Given the description of an element on the screen output the (x, y) to click on. 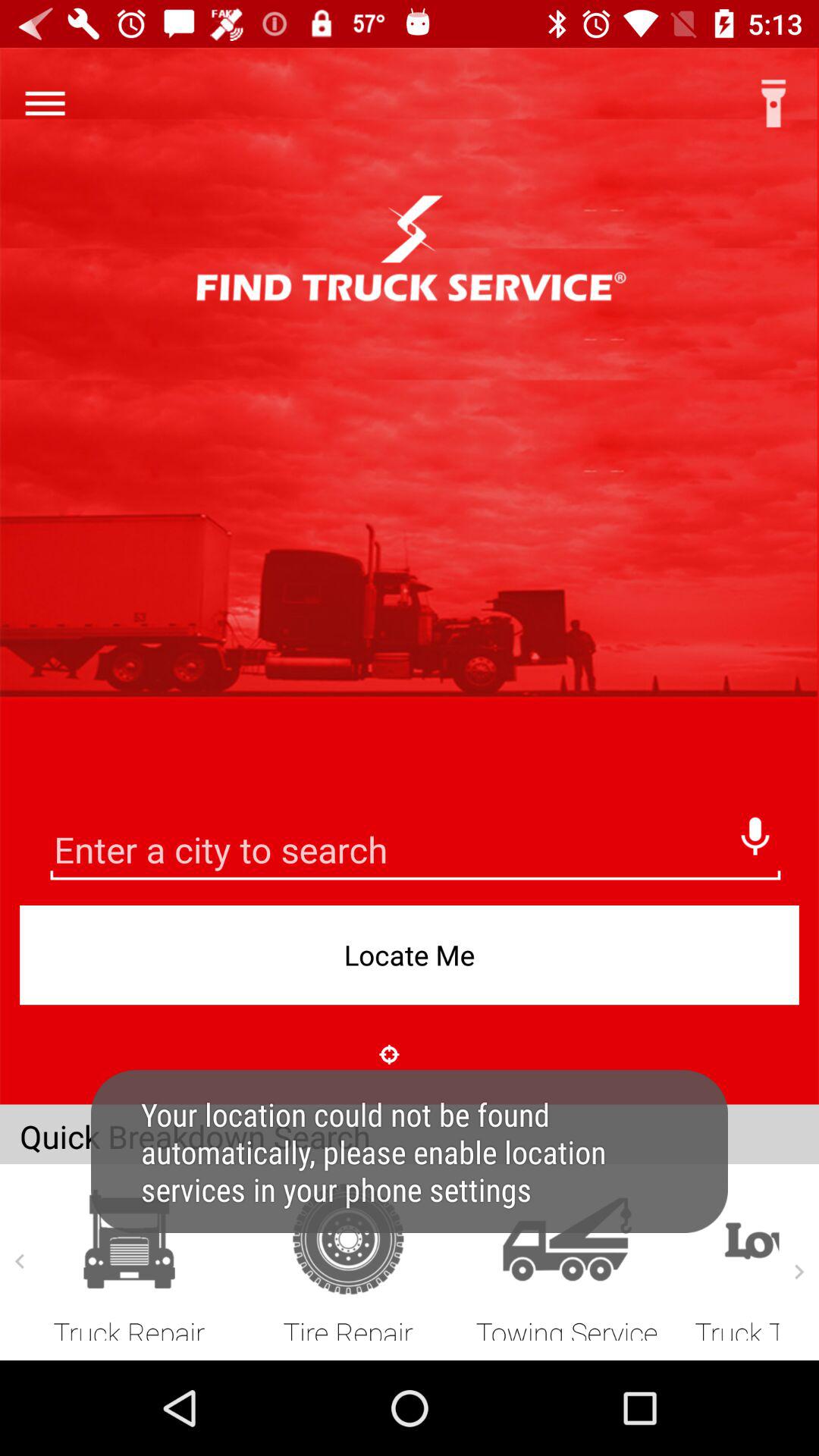
go to advertisement (415, 851)
